Given the description of an element on the screen output the (x, y) to click on. 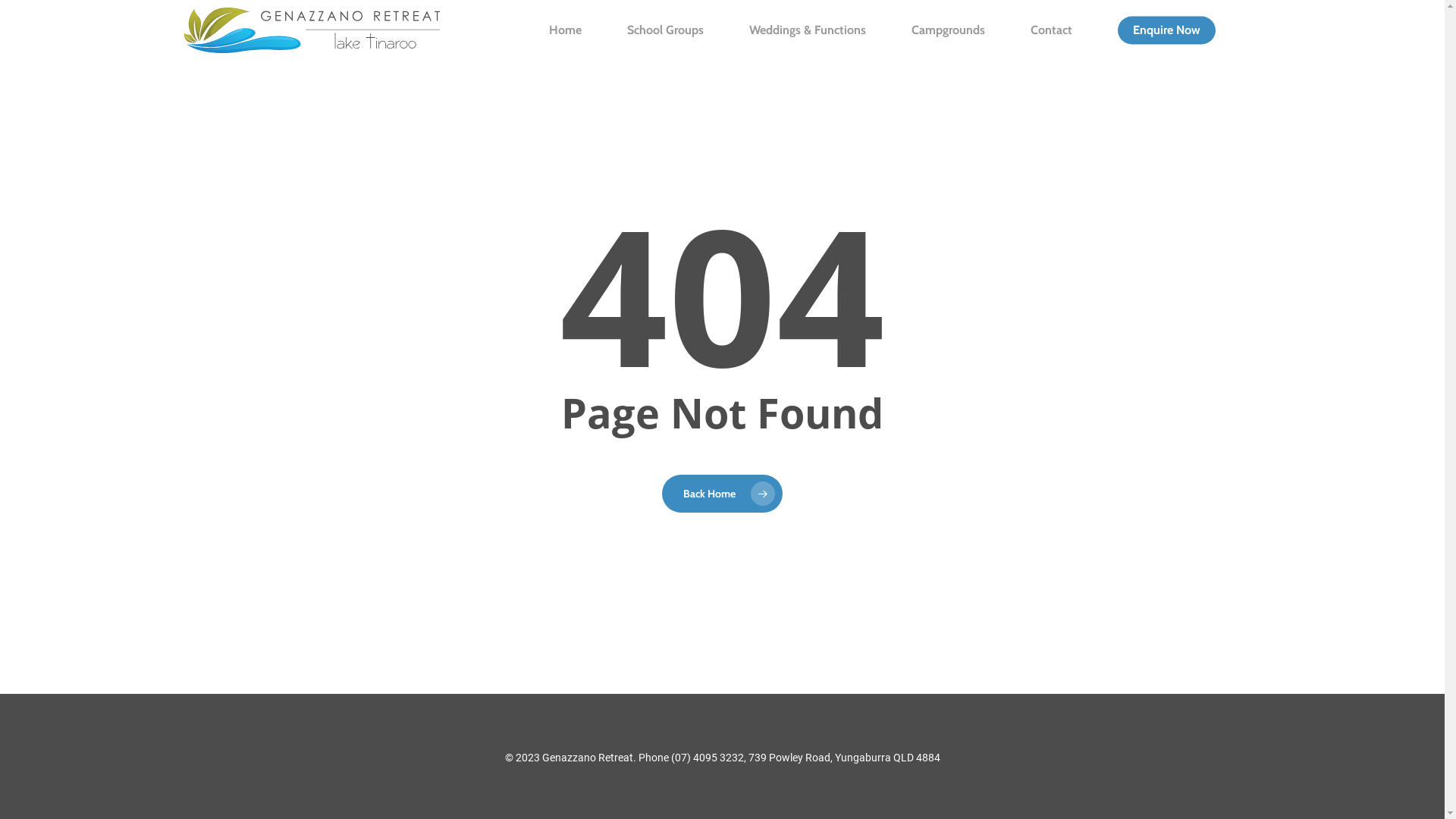
Contact Element type: text (1050, 30)
Back Home Element type: text (722, 493)
Home Element type: text (565, 30)
Weddings & Functions Element type: text (807, 30)
Enquire Now Element type: text (1166, 30)
Campgrounds Element type: text (948, 30)
School Groups Element type: text (664, 30)
